Given the description of an element on the screen output the (x, y) to click on. 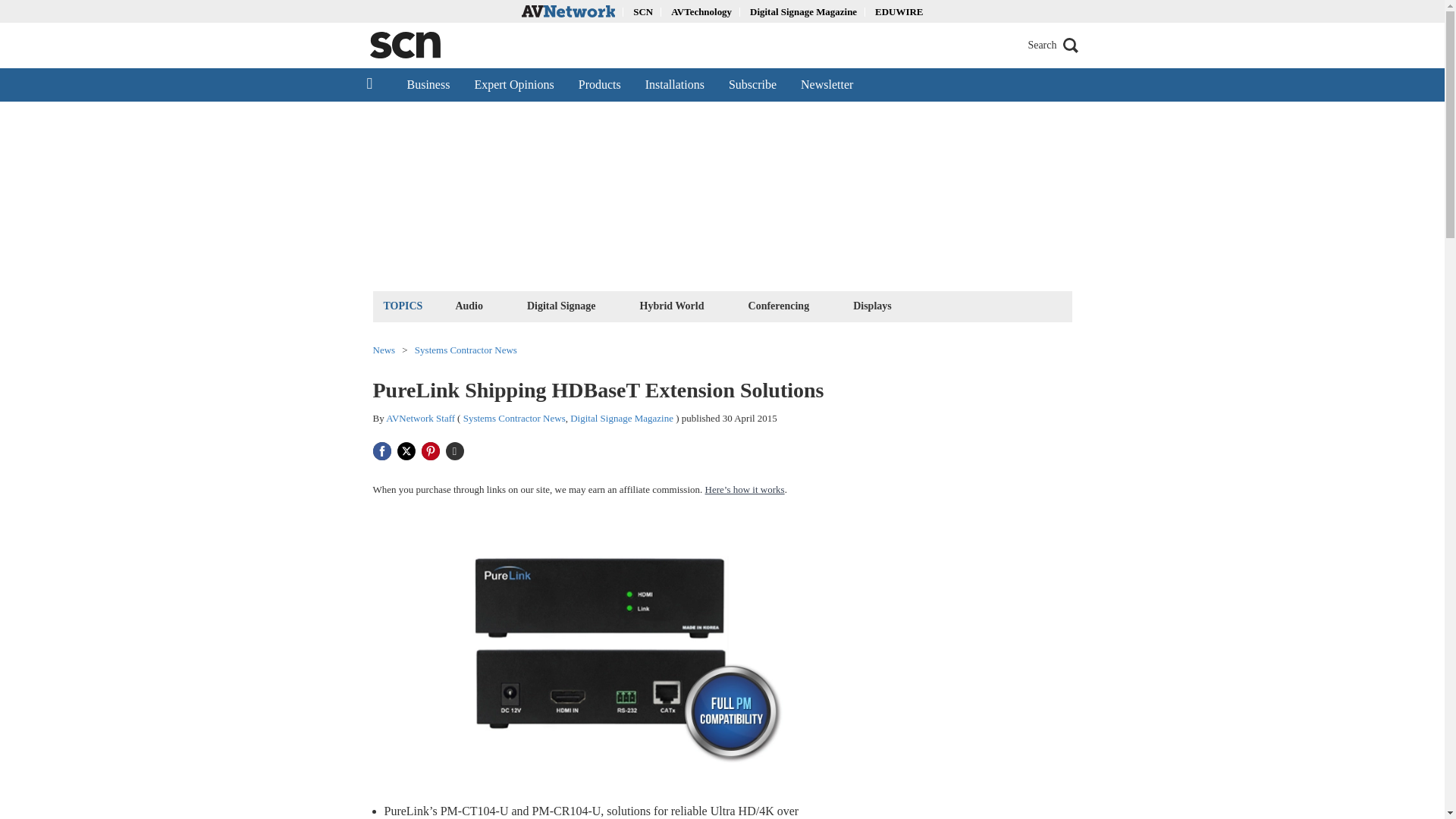
Digital Signage Magazine (803, 11)
Business (427, 84)
AVNetwork Staff (419, 418)
EDUWIRE (899, 11)
Audio (468, 305)
AVTechnology (701, 11)
Expert Opinions (513, 84)
SCN (642, 11)
Newsletter (826, 84)
Subscribe (752, 84)
